Given the description of an element on the screen output the (x, y) to click on. 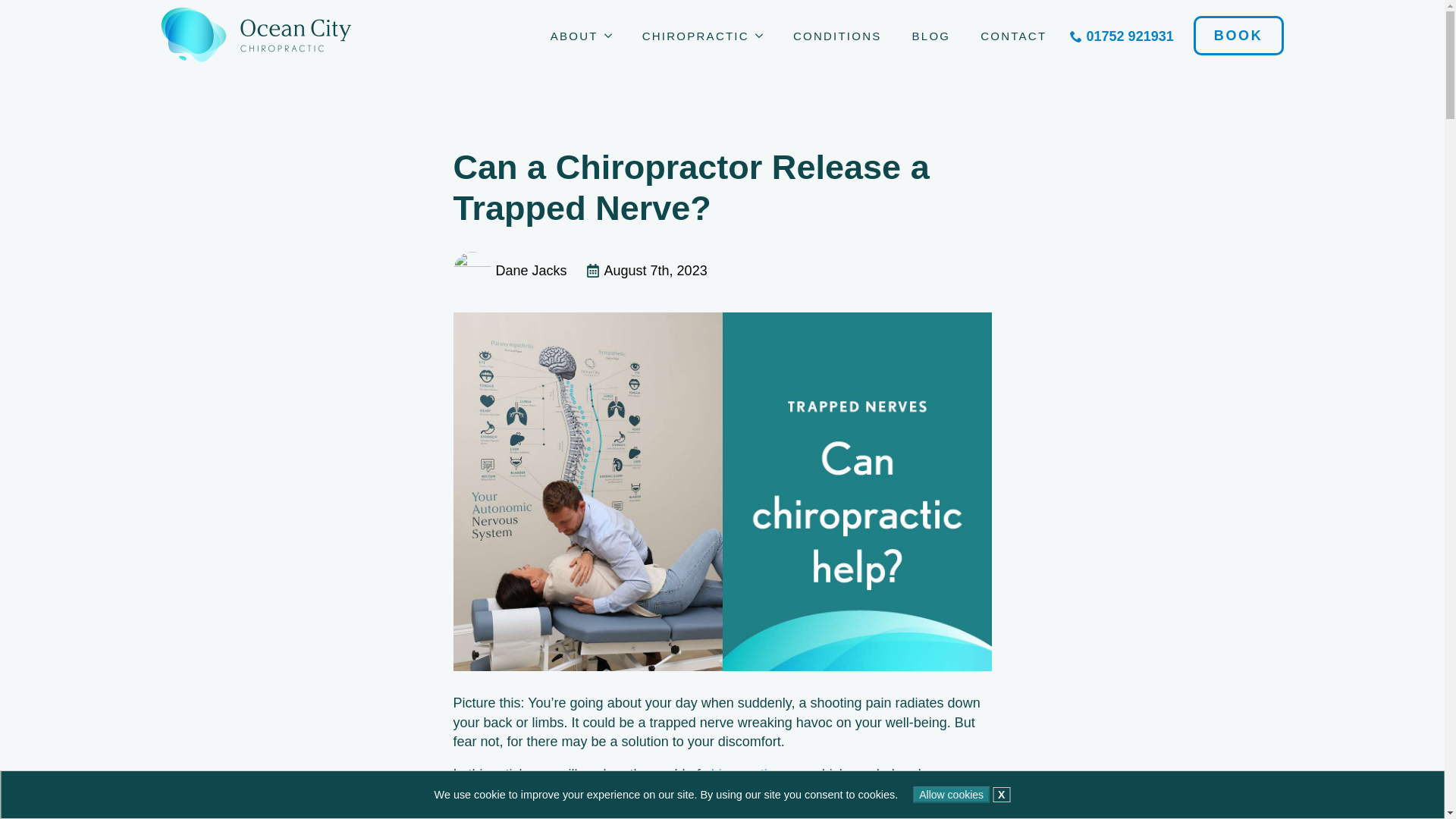
chiropractic care (754, 774)
CHIROPRACTIC (688, 35)
BLOG (931, 35)
ABOUT (566, 35)
Allow cookies (951, 794)
X (1001, 794)
CONDITIONS (836, 35)
01752 921931 (1120, 36)
CONTACT (1013, 35)
BOOK (1238, 35)
